Given the description of an element on the screen output the (x, y) to click on. 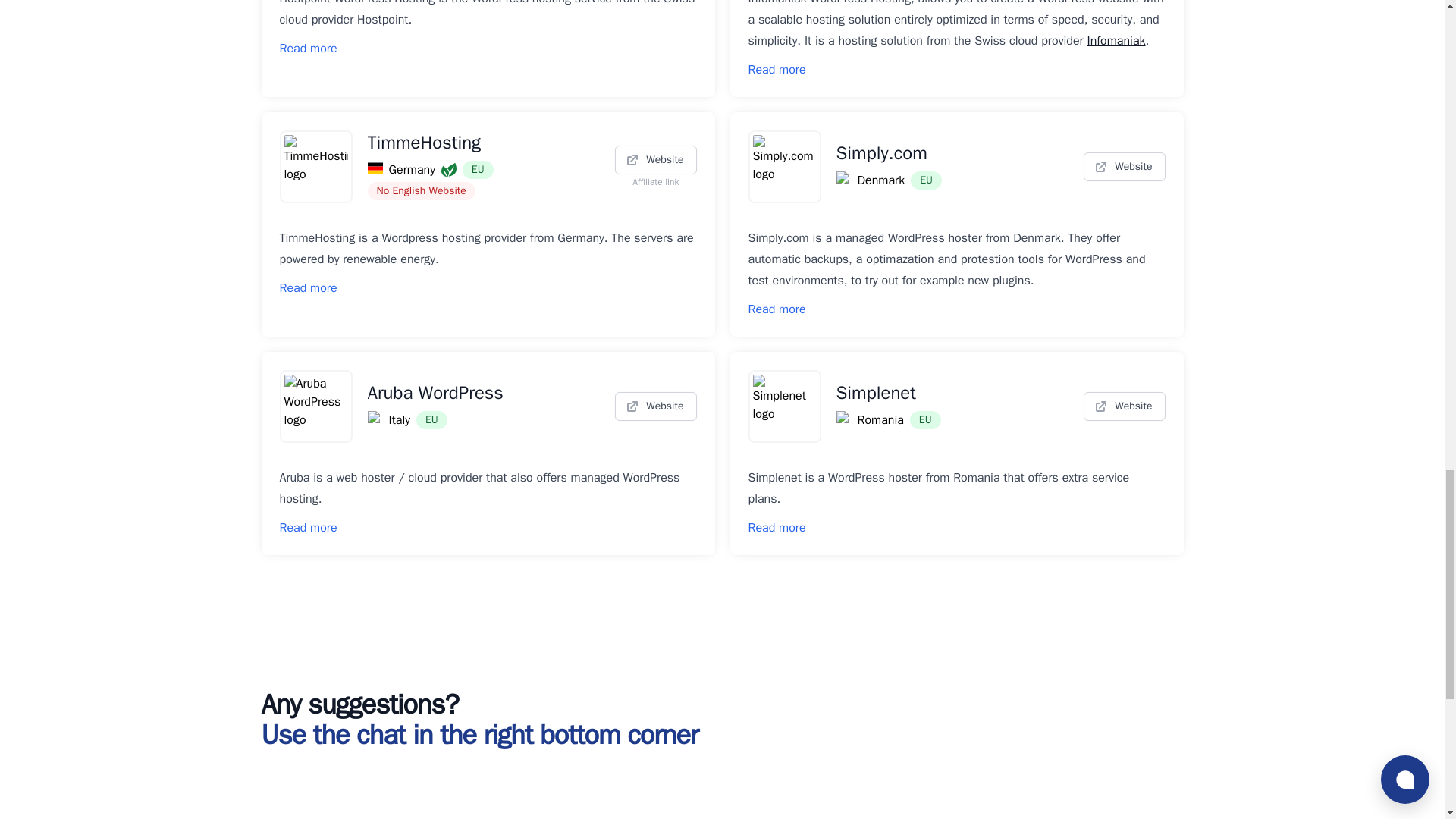
European Union (925, 420)
European Union (926, 180)
European Union (431, 420)
European Union (478, 169)
